Given the description of an element on the screen output the (x, y) to click on. 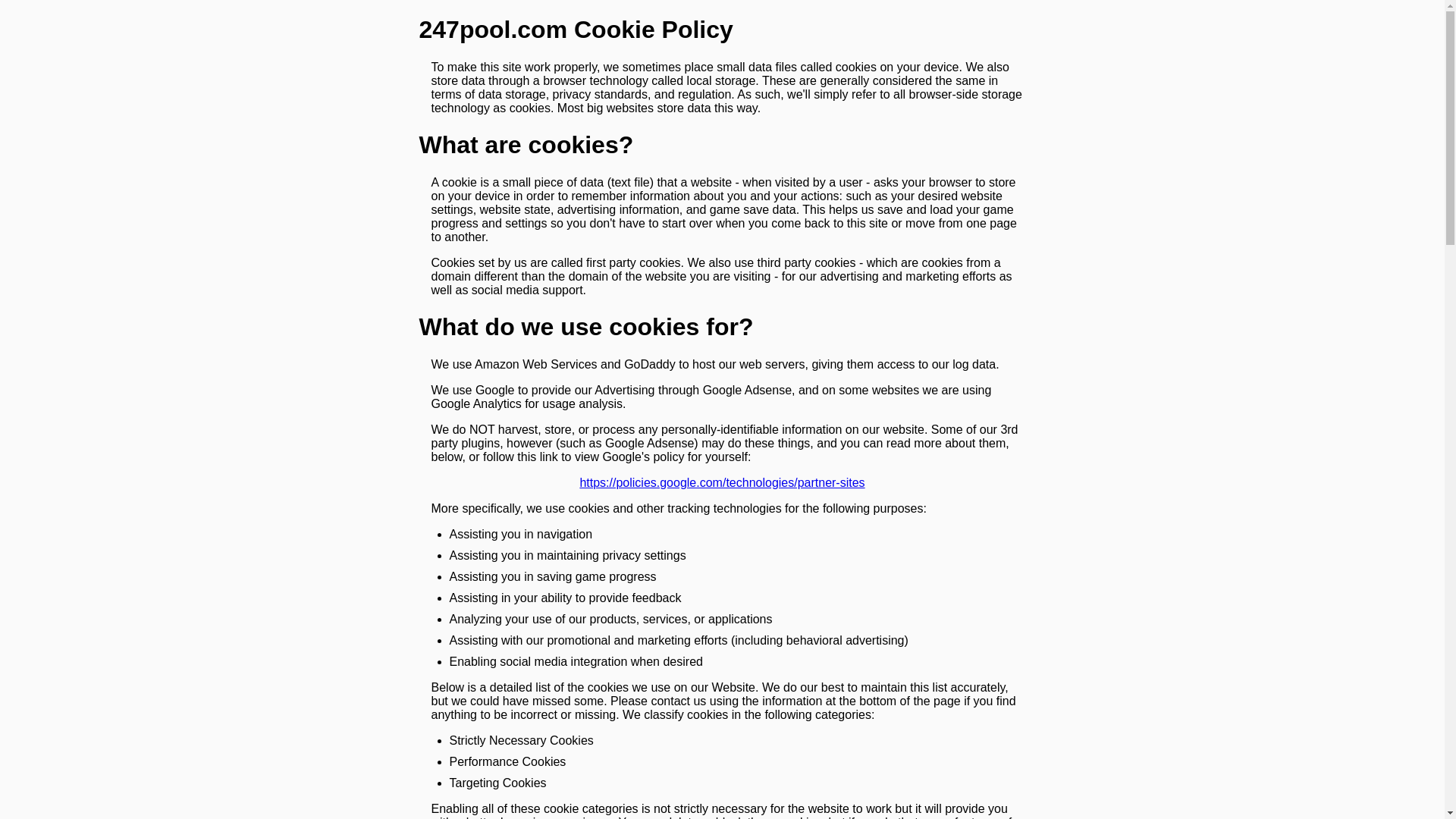
https://policies.google.com/technologies/partner-sites Element type: text (721, 482)
